Given the description of an element on the screen output the (x, y) to click on. 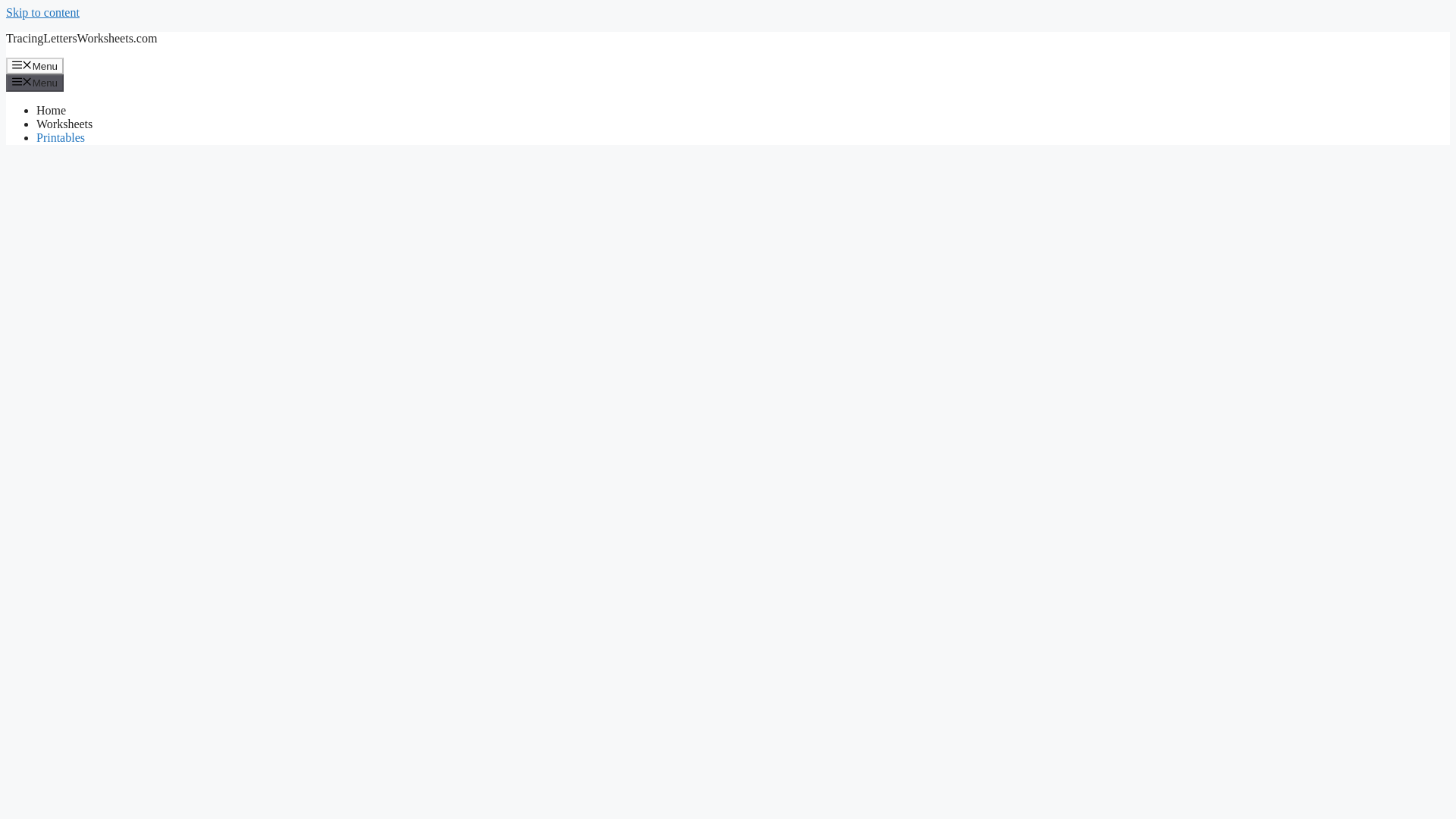
Home (50, 110)
Menu (34, 82)
Menu (34, 65)
Skip to content (42, 11)
Worksheets (64, 123)
Skip to content (42, 11)
TracingLettersWorksheets.com (81, 38)
